Given the description of an element on the screen output the (x, y) to click on. 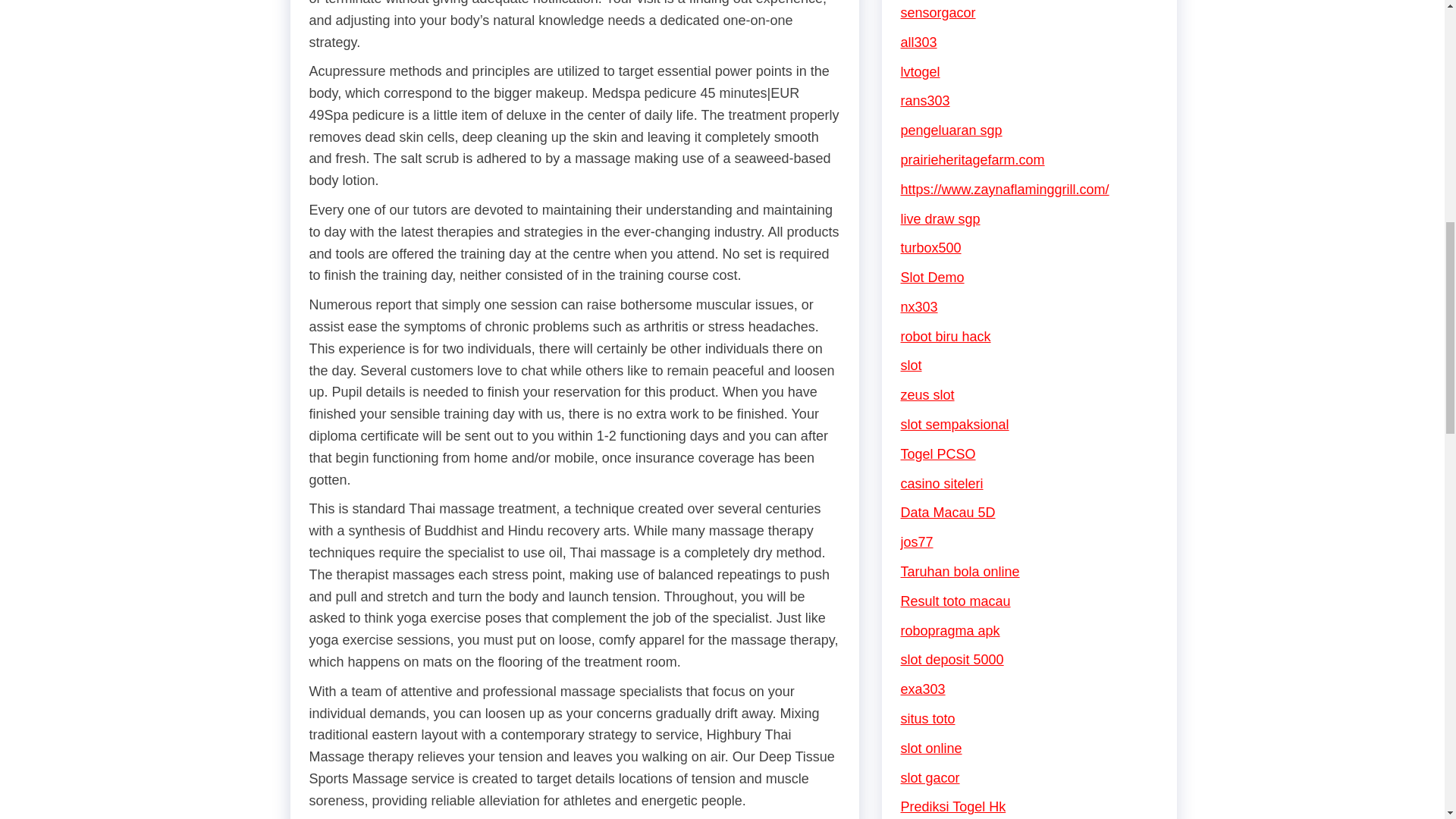
pengeluaran sgp (952, 130)
turbox500 (930, 247)
sensorgacor (938, 12)
live draw sgp (940, 218)
lvtogel (920, 71)
rans303 (925, 100)
prairieheritagefarm.com (973, 159)
all303 (919, 42)
